Given the description of an element on the screen output the (x, y) to click on. 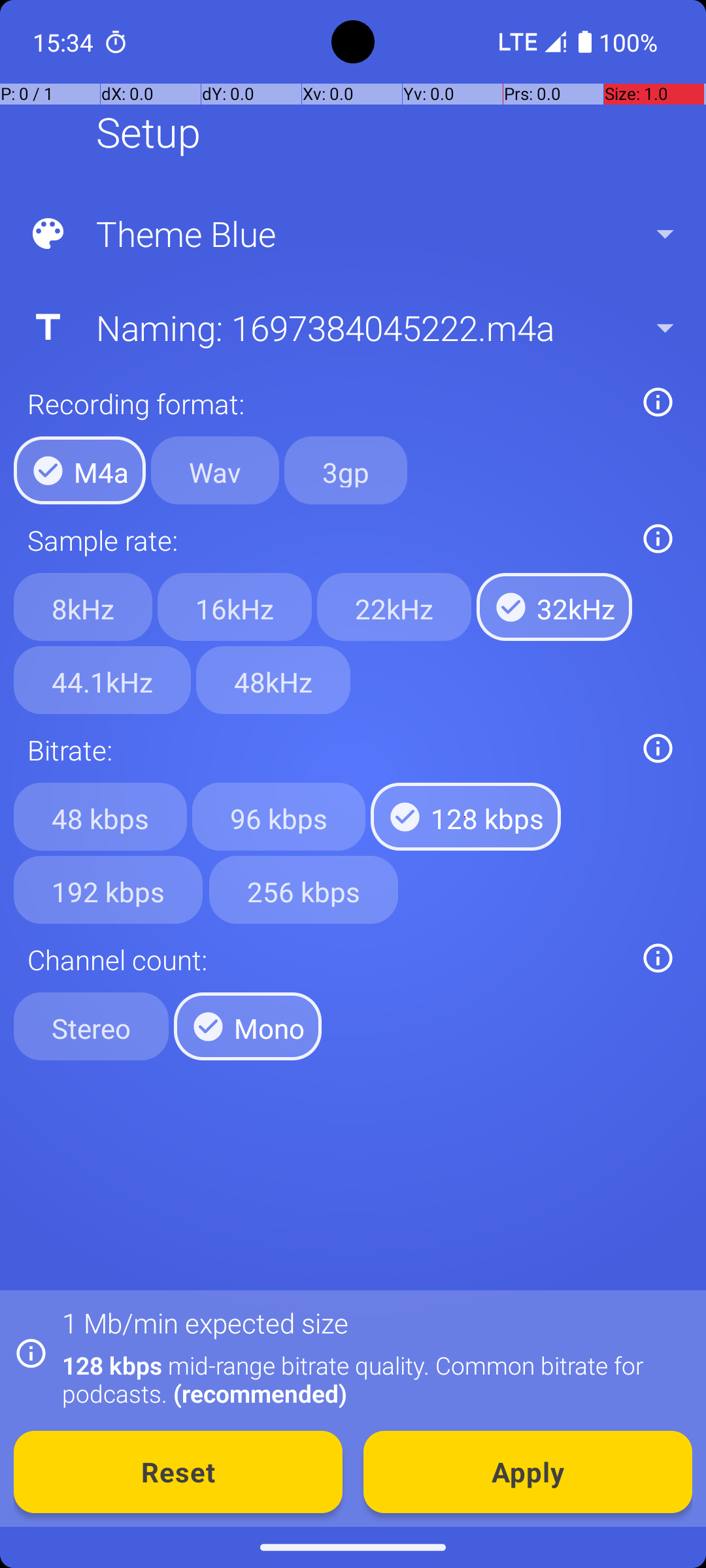
128 kbps mid-range bitrate quality. Common bitrate for podcasts. (recommended) Element type: android.widget.TextView (370, 1378)
Theme Blue Element type: android.widget.TextView (352, 233)
Naming: 1697384045222.m4a Element type: android.widget.TextView (352, 327)
